Given the description of an element on the screen output the (x, y) to click on. 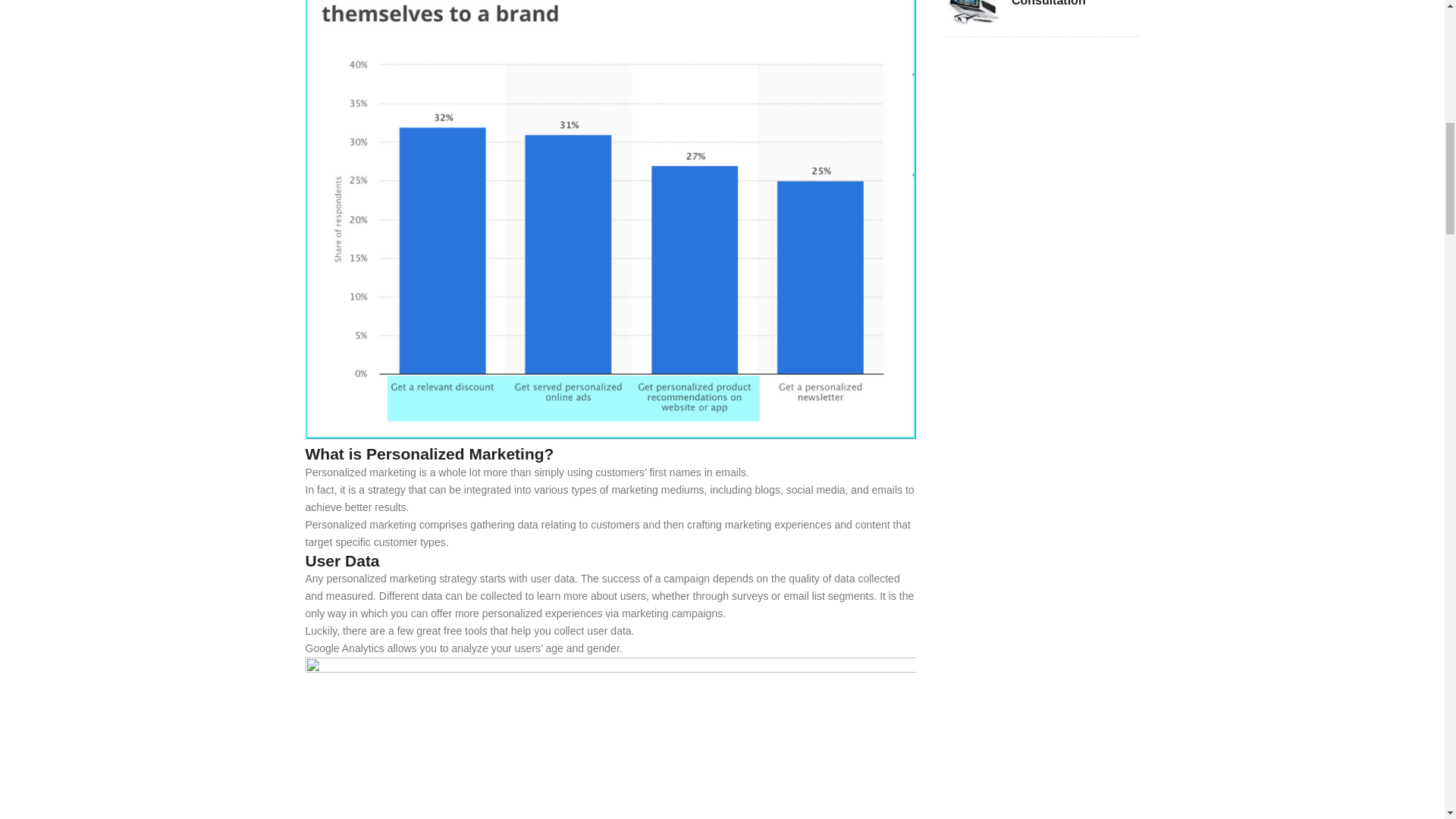
eCommerce Consultation (973, 13)
eCommerce Consultation (1075, 4)
